Given the description of an element on the screen output the (x, y) to click on. 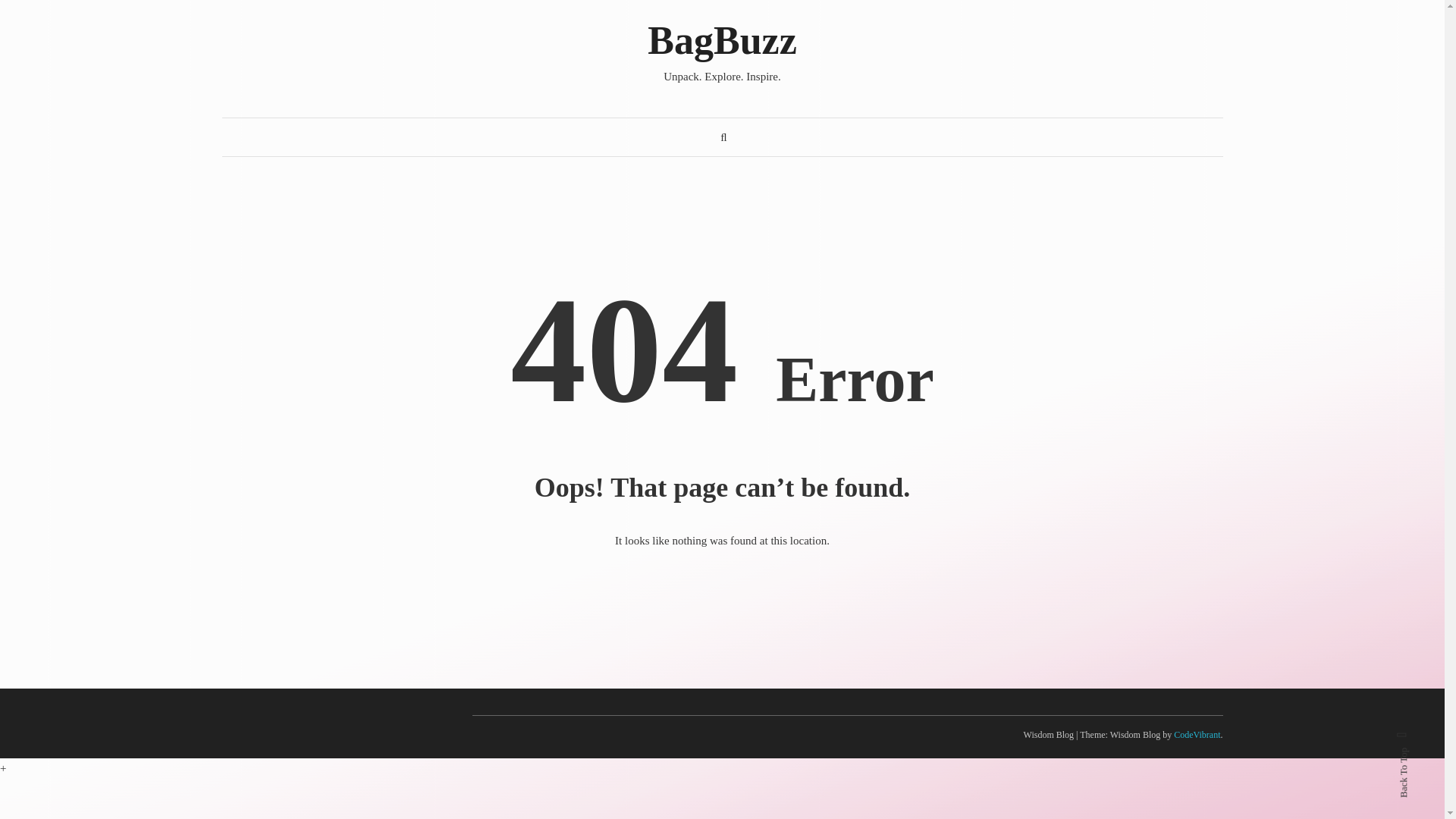
BagBuzz (721, 40)
CodeVibrant (1196, 734)
Search (768, 432)
